Given the description of an element on the screen output the (x, y) to click on. 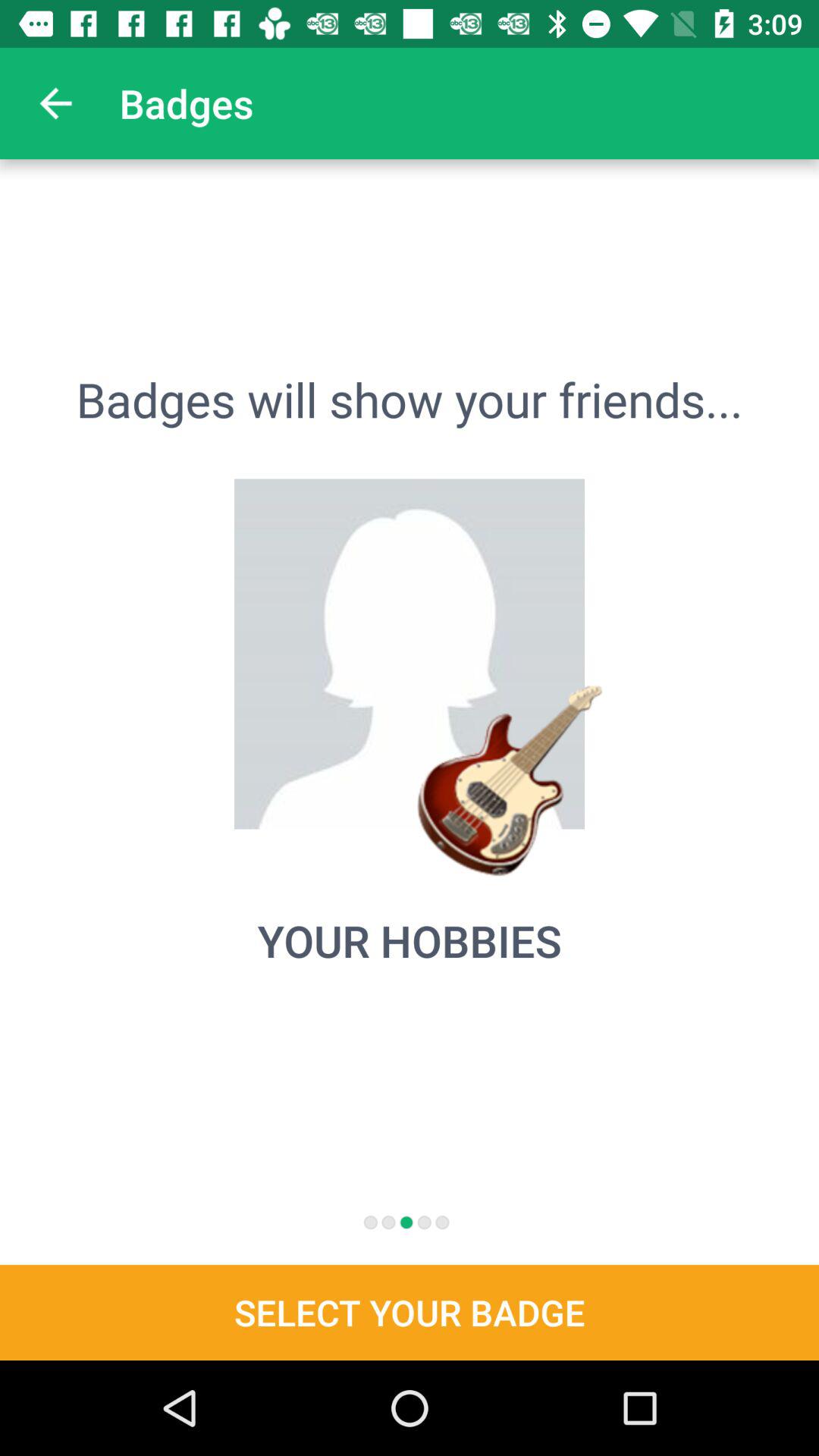
scroll to your hobbies icon (409, 940)
